Given the description of an element on the screen output the (x, y) to click on. 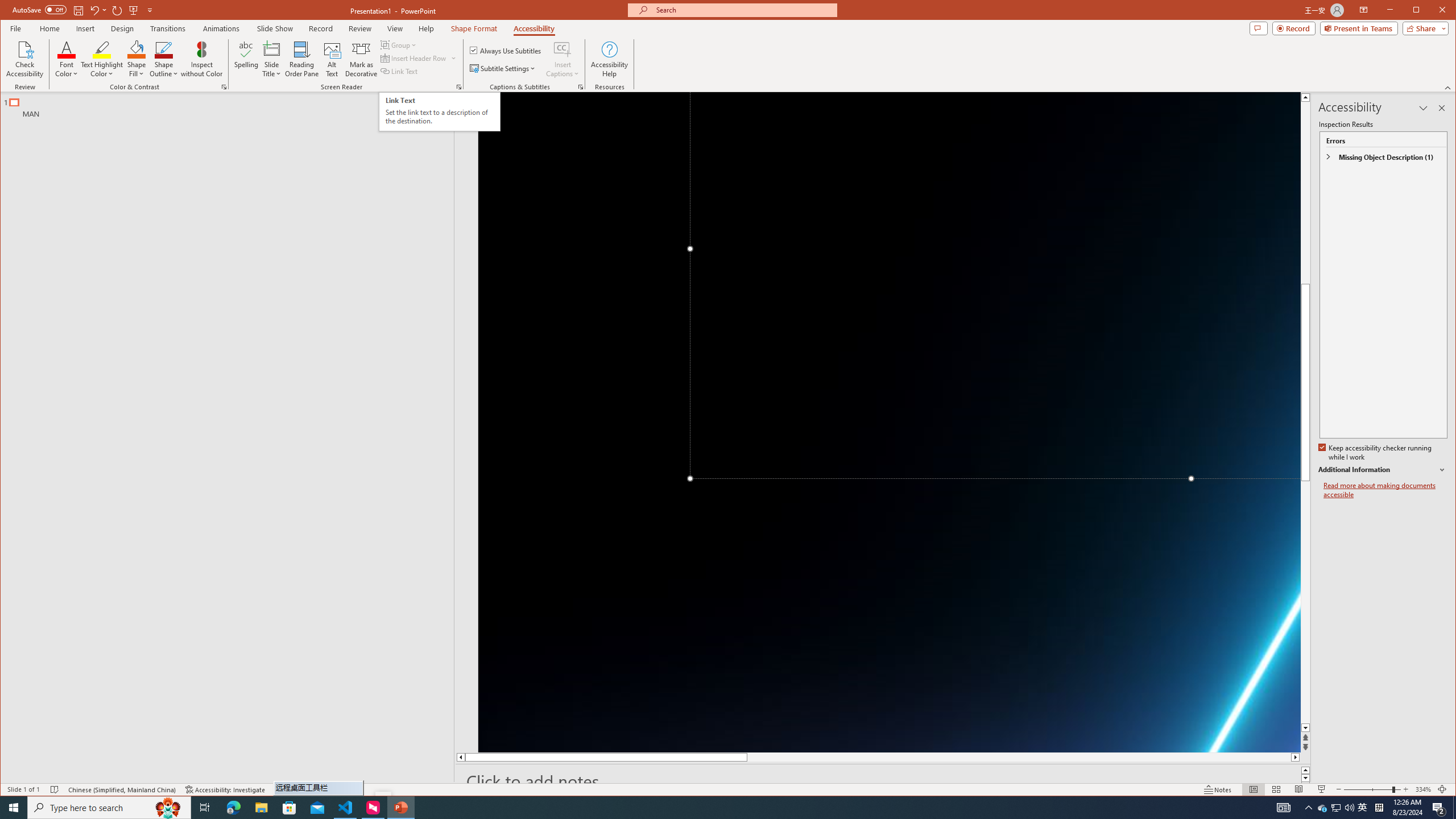
Always Use Subtitles (505, 49)
Slide Title (271, 59)
Subtitle Settings (502, 68)
